Given the description of an element on the screen output the (x, y) to click on. 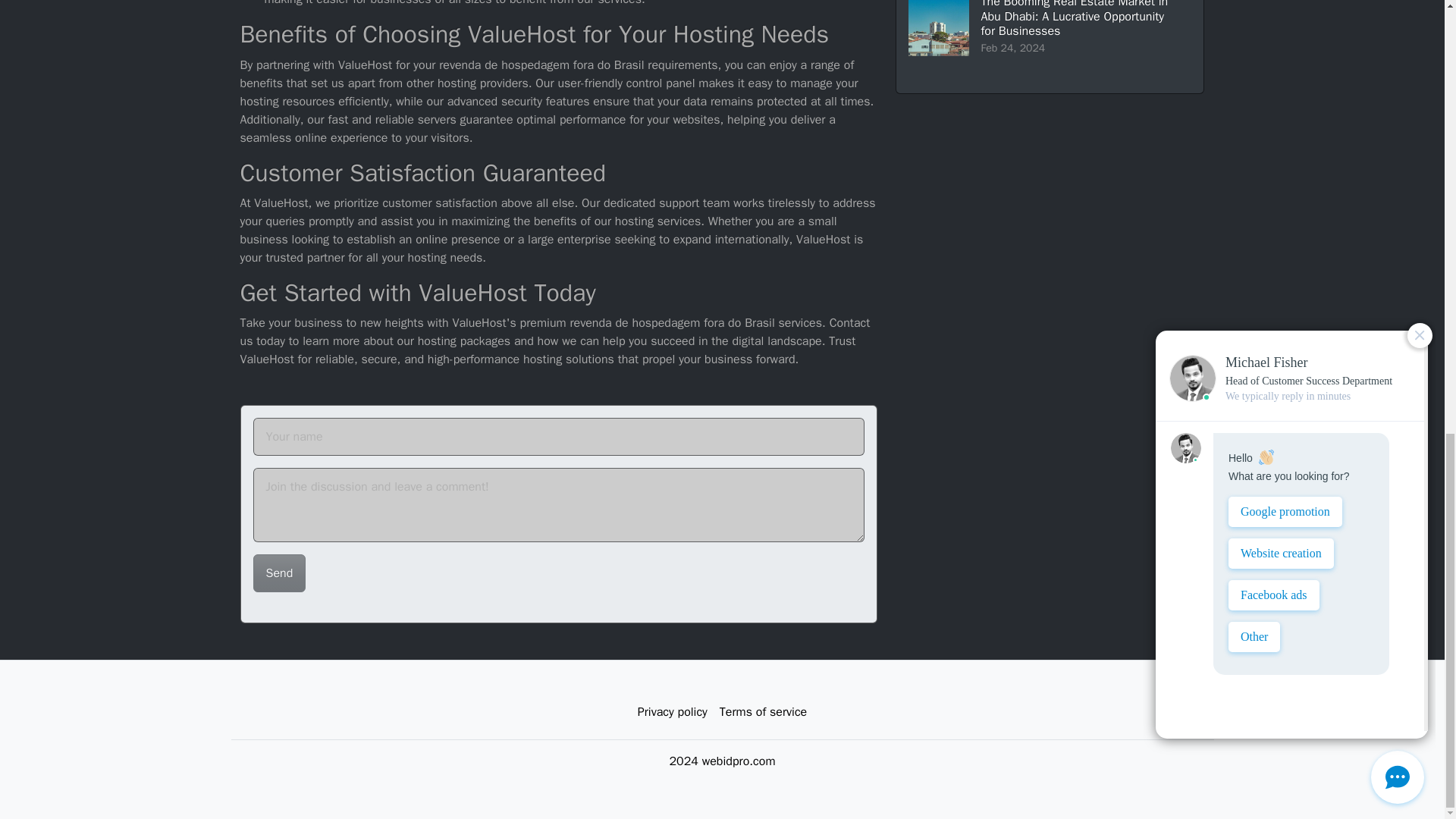
Privacy policy (672, 711)
Terms of service (762, 711)
Send (279, 573)
Send (279, 573)
